Given the description of an element on the screen output the (x, y) to click on. 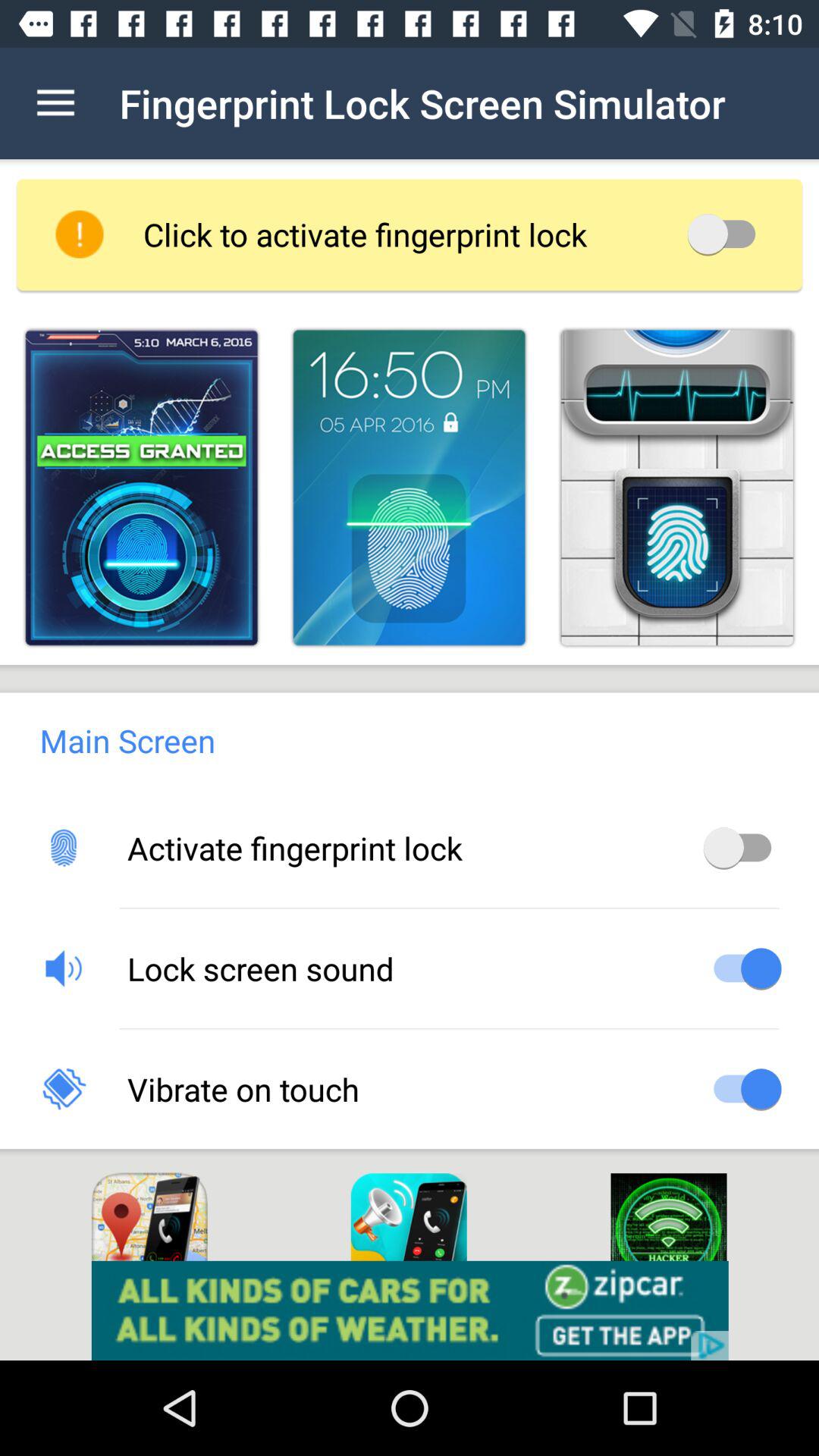
choose skin (677, 487)
